Given the description of an element on the screen output the (x, y) to click on. 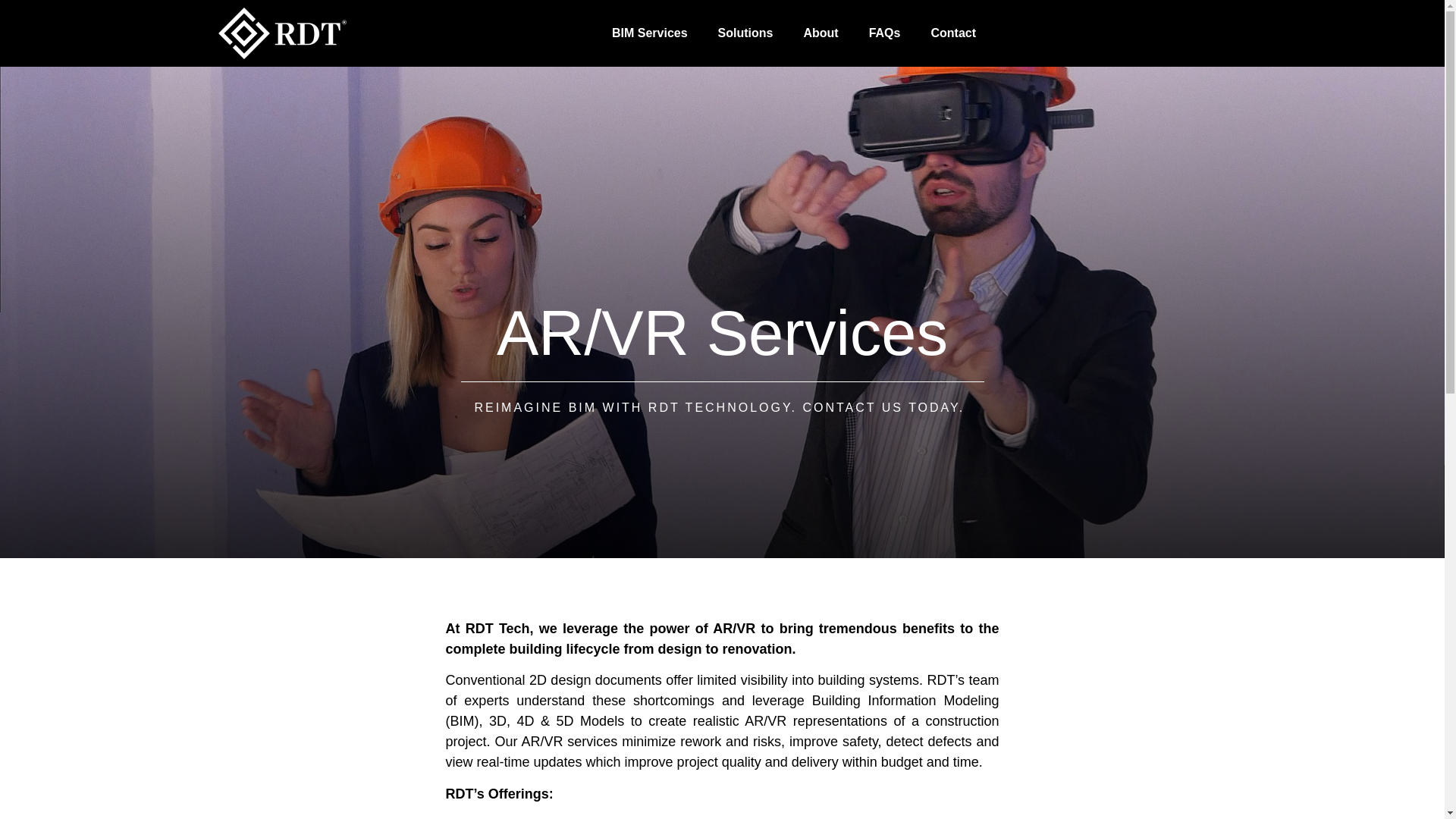
BIM Services (649, 32)
Solutions (746, 32)
